Given the description of an element on the screen output the (x, y) to click on. 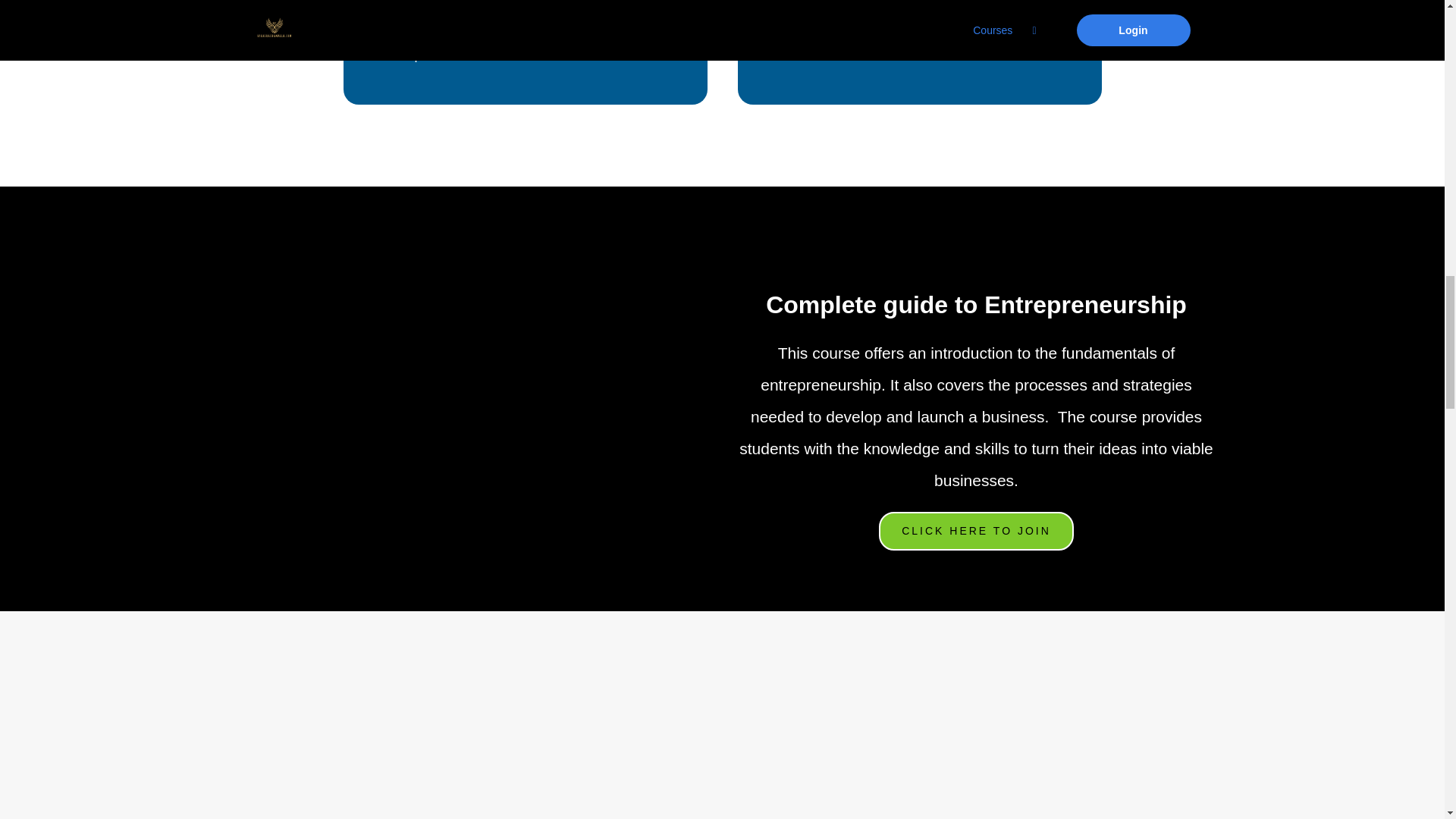
CLICK HERE TO JOIN (976, 530)
